Given the description of an element on the screen output the (x, y) to click on. 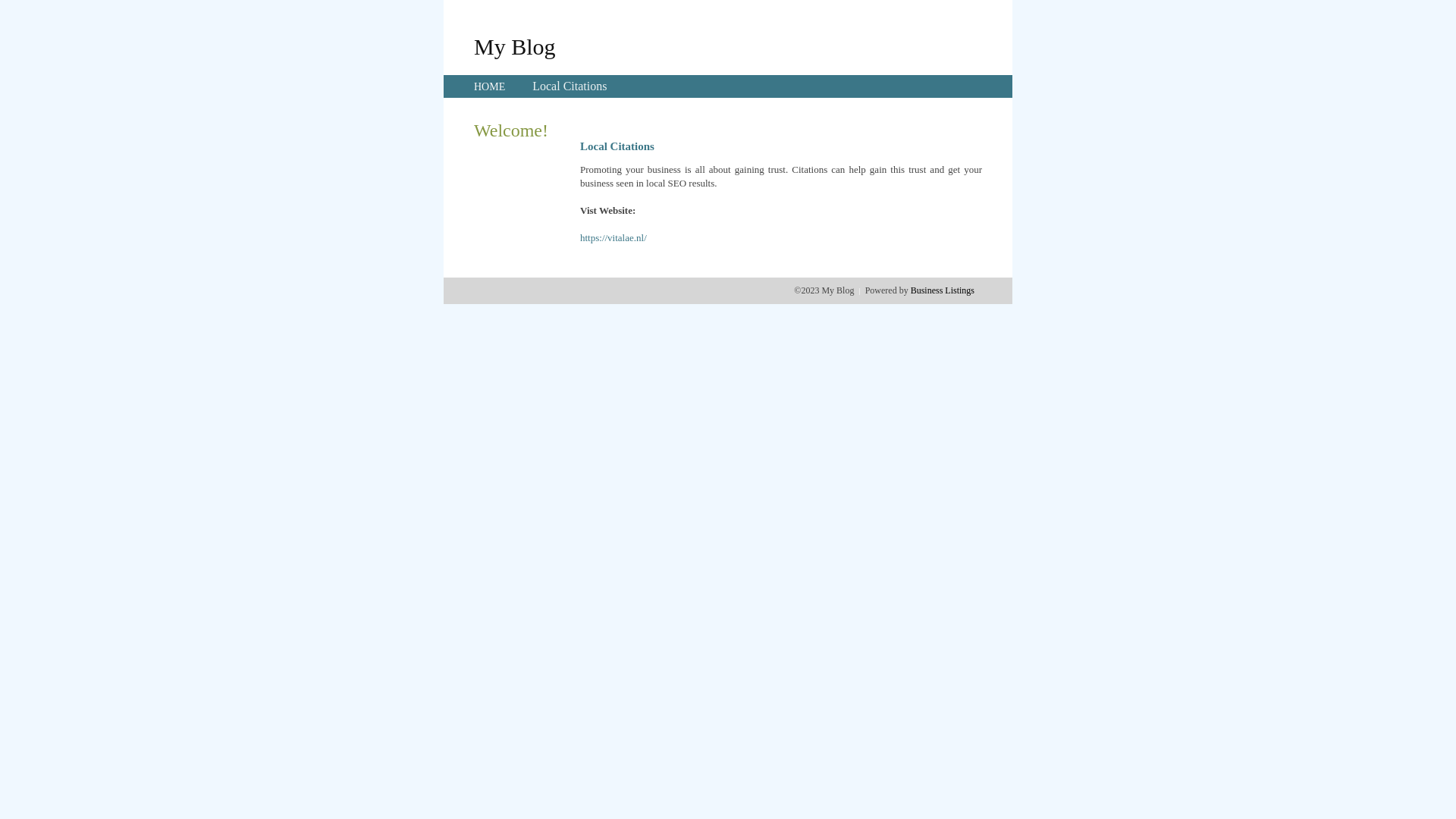
My Blog Element type: text (514, 46)
Business Listings Element type: text (942, 290)
https://vitalae.nl/ Element type: text (613, 237)
Local Citations Element type: text (569, 85)
HOME Element type: text (489, 86)
